Given the description of an element on the screen output the (x, y) to click on. 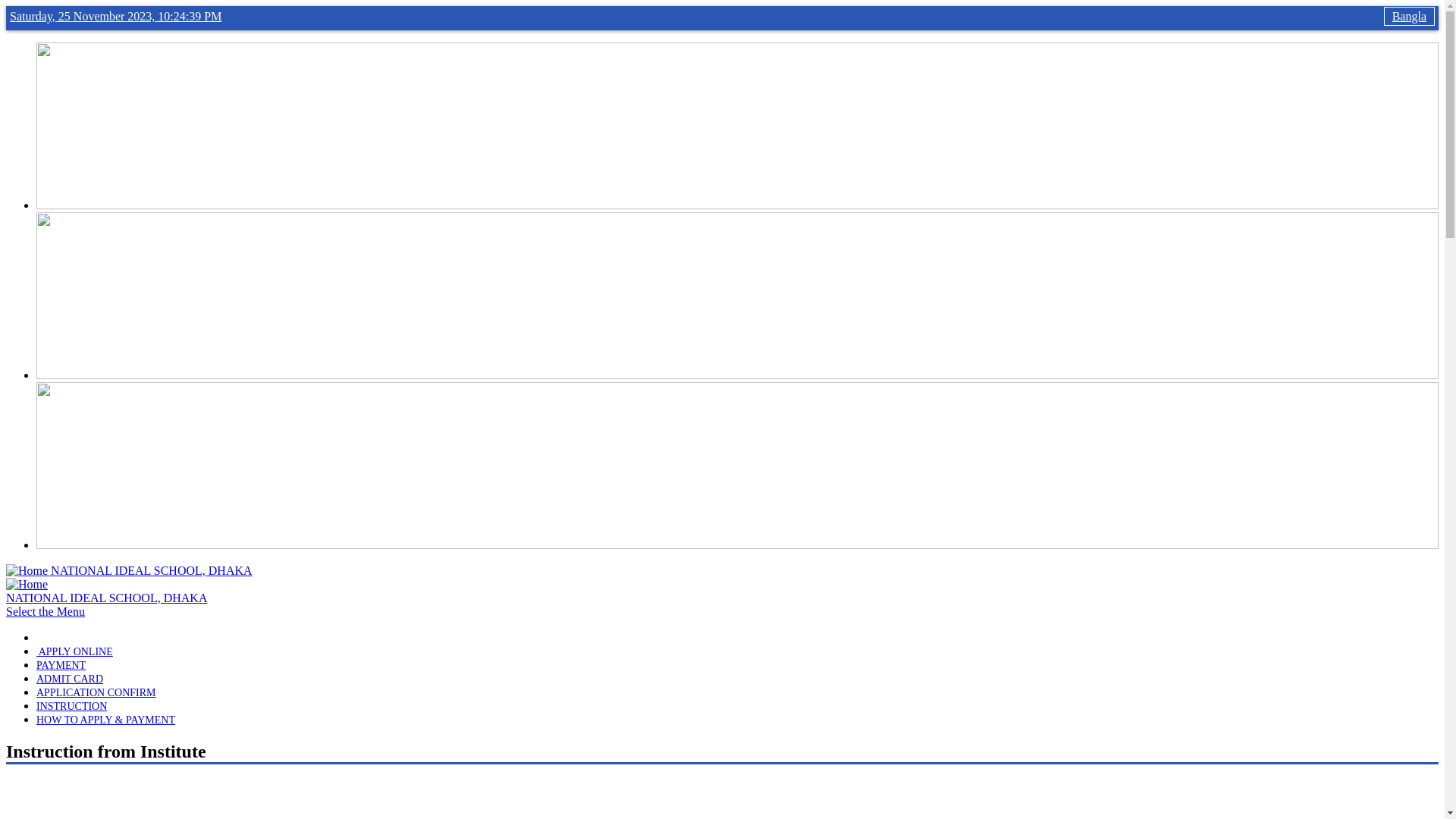
NATIONAL IDEAL SCHOOL, DHAKA Element type: text (150, 570)
Bangla Element type: text (1408, 15)
APPLICATION CONFIRM Element type: text (96, 692)
ADMIT CARD Element type: text (69, 678)
NATIONAL IDEAL SCHOOL, DHAKA Element type: text (106, 597)
b-100 Element type: hover (737, 204)
INSTRUCTION Element type: text (71, 706)
HOW TO APPLY & PAYMENT Element type: text (105, 719)
Select the Menu Element type: text (45, 611)
 APPLY ONLINE Element type: text (74, 651)
PAYMENT Element type: text (60, 665)
21 February Element type: hover (737, 544)
Home Element type: hover (28, 570)
Home Element type: hover (26, 583)
Saturday, 25 November 2023, 10:24:39 PM Element type: text (115, 16)
Main Bhabon Element type: hover (737, 374)
